Given the description of an element on the screen output the (x, y) to click on. 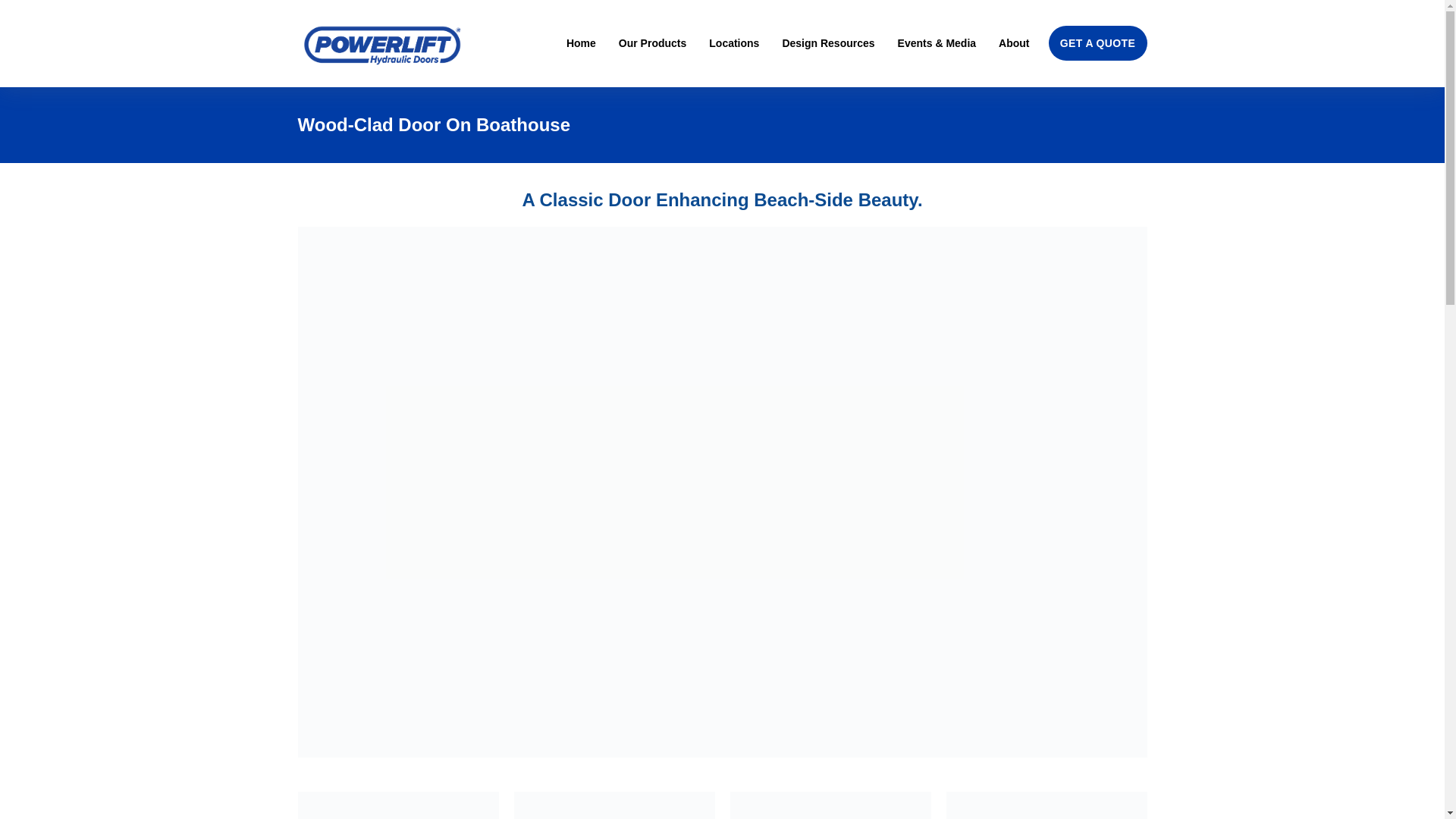
Locations (733, 42)
GET A QUOTE (1097, 42)
Home (580, 42)
Our Products (651, 42)
About (1013, 42)
Design Resources (828, 42)
